Given the description of an element on the screen output the (x, y) to click on. 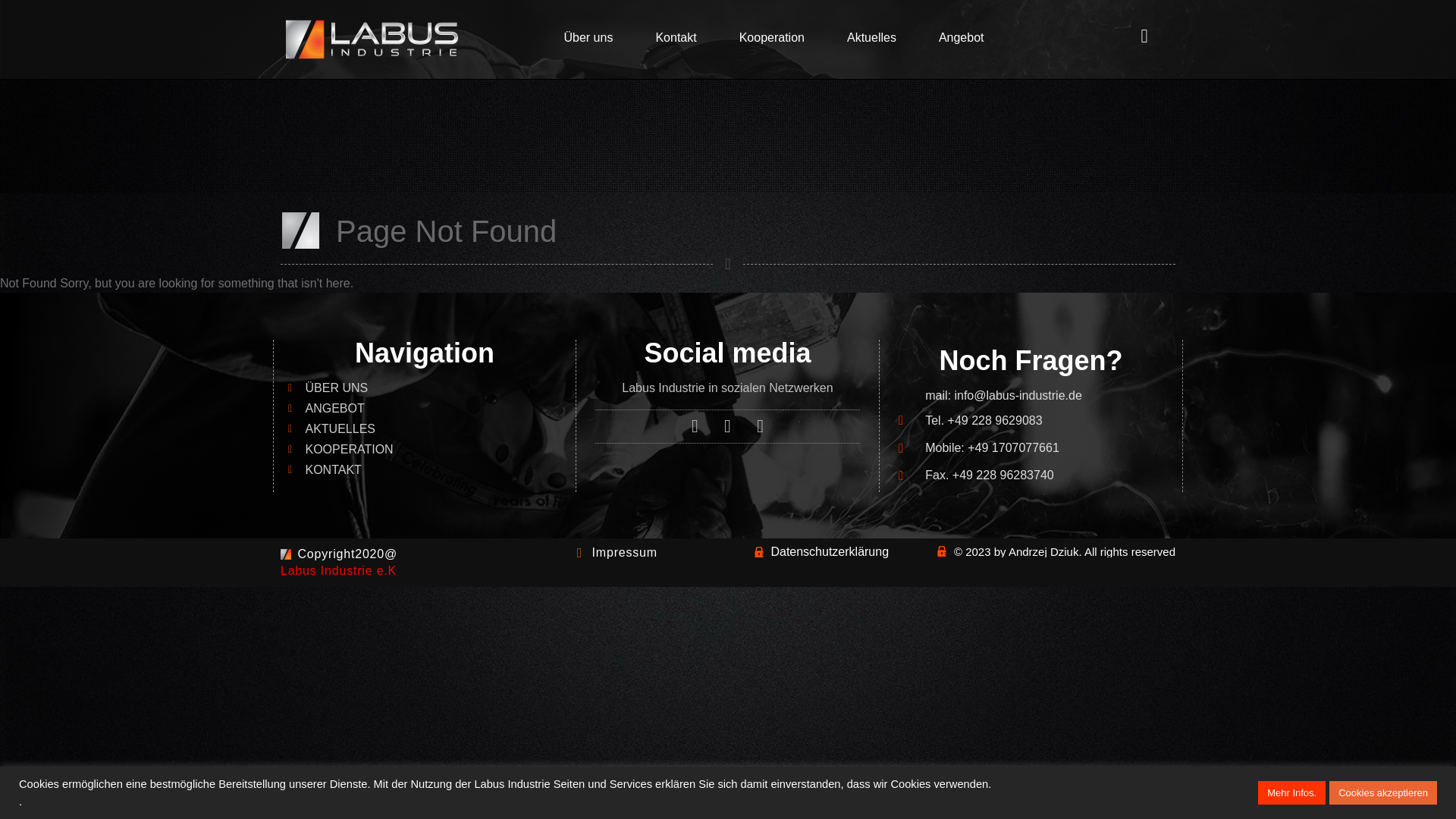
KONTAKT (431, 469)
KOOPERATION (431, 449)
Kontakt (675, 37)
Angebot (961, 37)
ANGEBOT (431, 408)
Aktuelles (871, 37)
AKTUELLES (431, 428)
Impressum (614, 552)
Kooperation (771, 37)
